Given the description of an element on the screen output the (x, y) to click on. 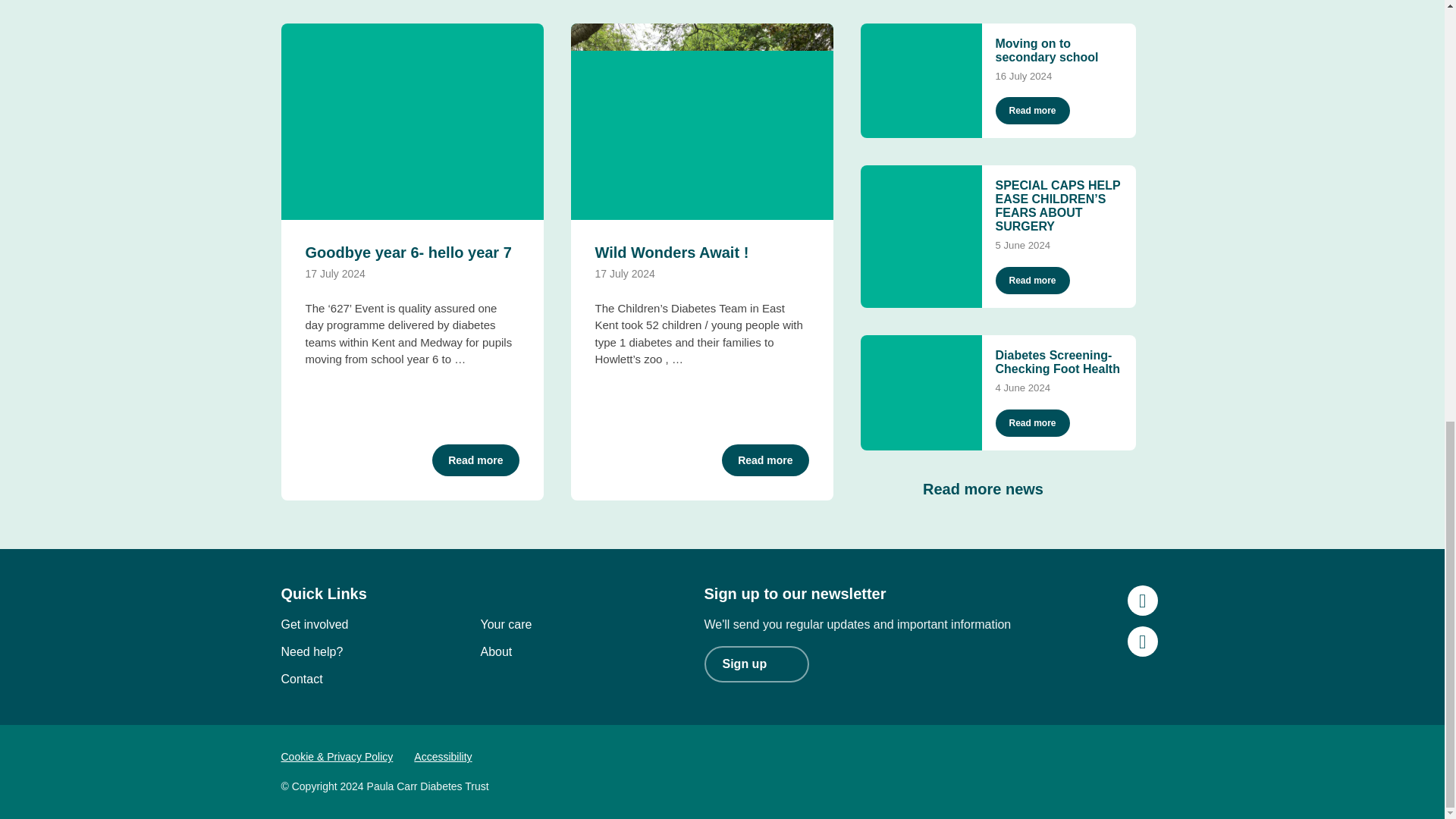
Read more (475, 459)
Wild Wonders Await ! (671, 252)
Goodbye year 6- hello year 7 (407, 252)
